Given the description of an element on the screen output the (x, y) to click on. 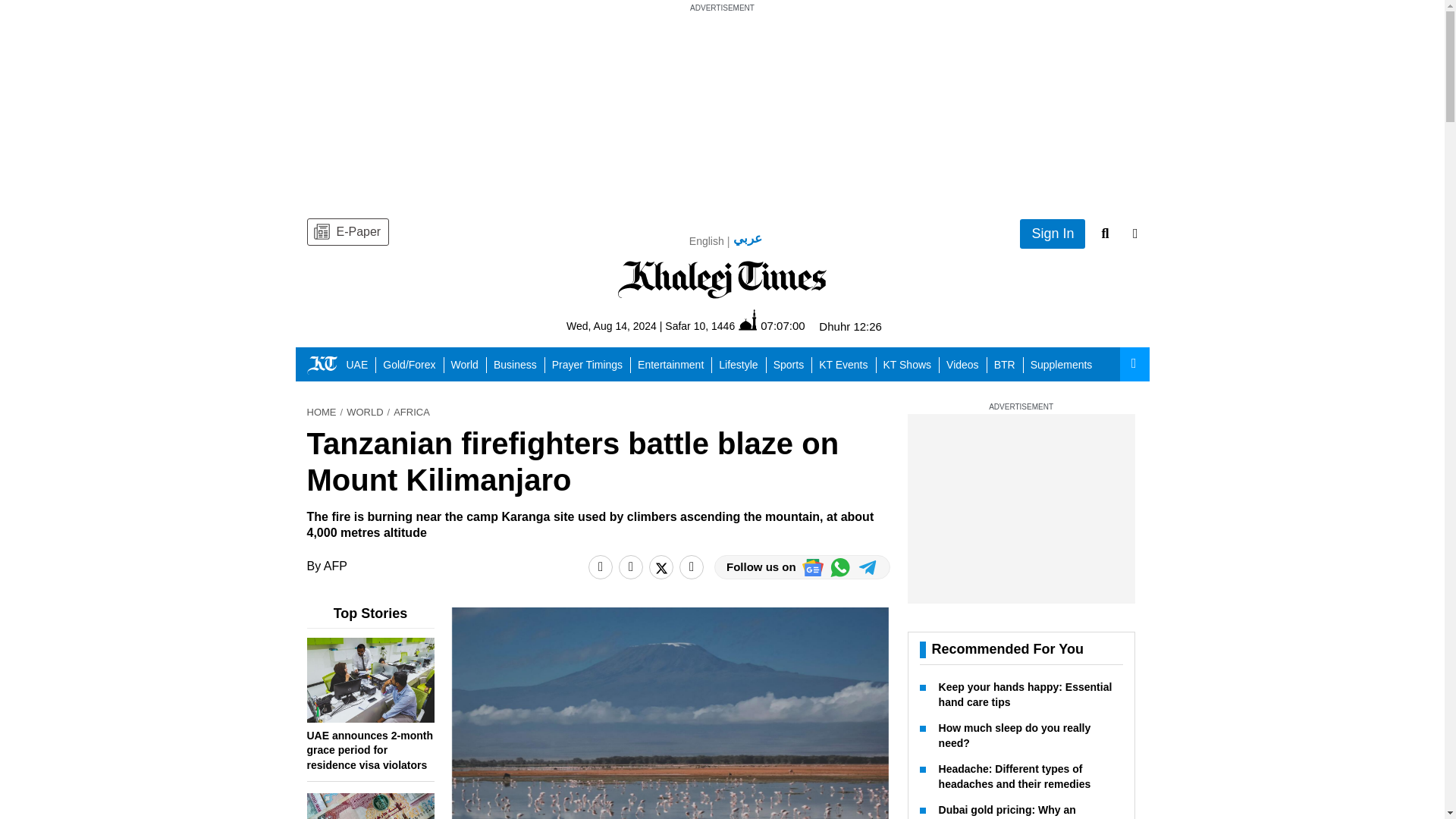
07:07:00 (771, 324)
E-Paper (346, 231)
Dhuhr 12:26 (850, 326)
Sign In (1052, 233)
